Given the description of an element on the screen output the (x, y) to click on. 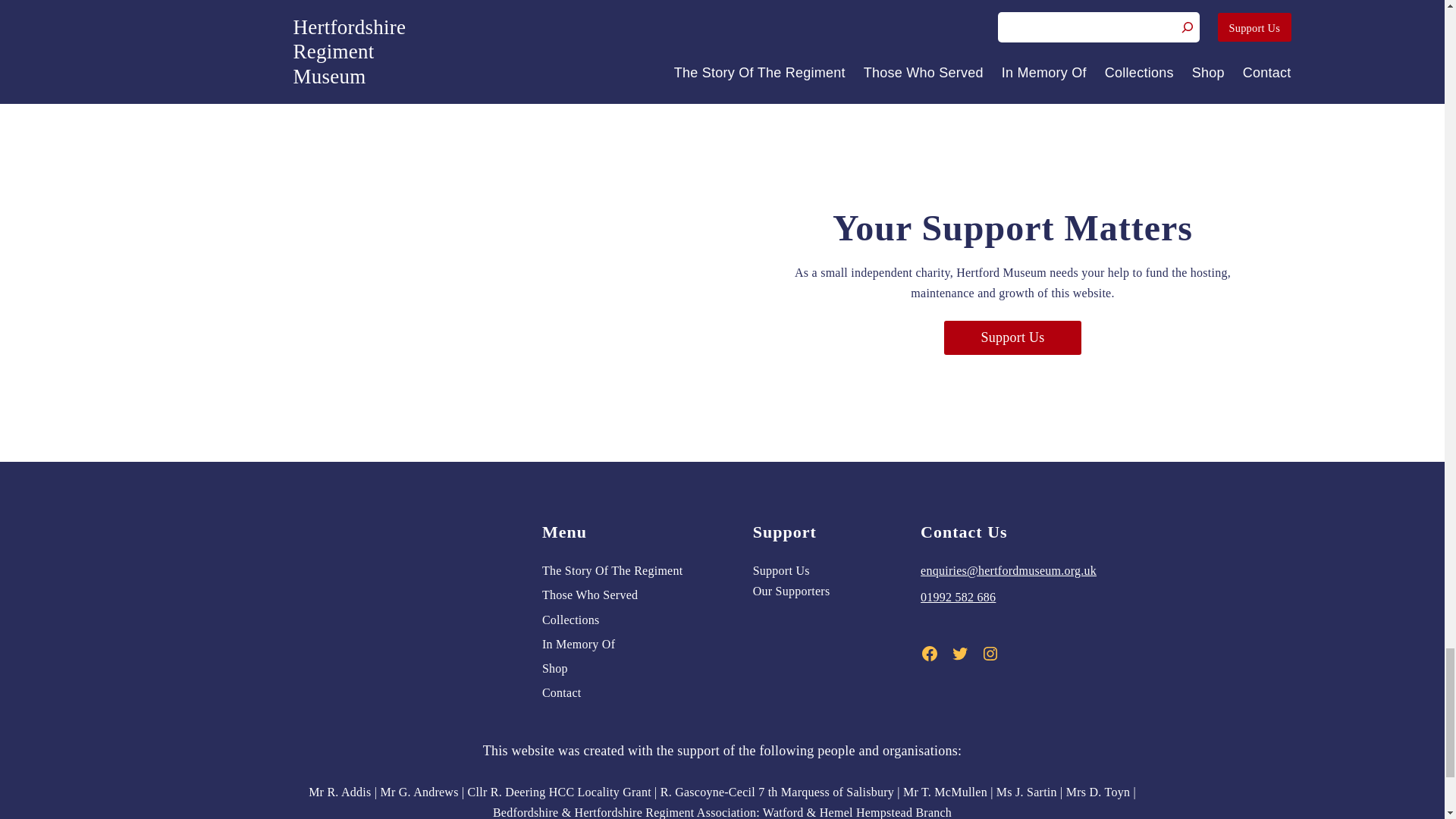
The Story Of The Regiment (611, 570)
Support Us (1011, 337)
